Given the description of an element on the screen output the (x, y) to click on. 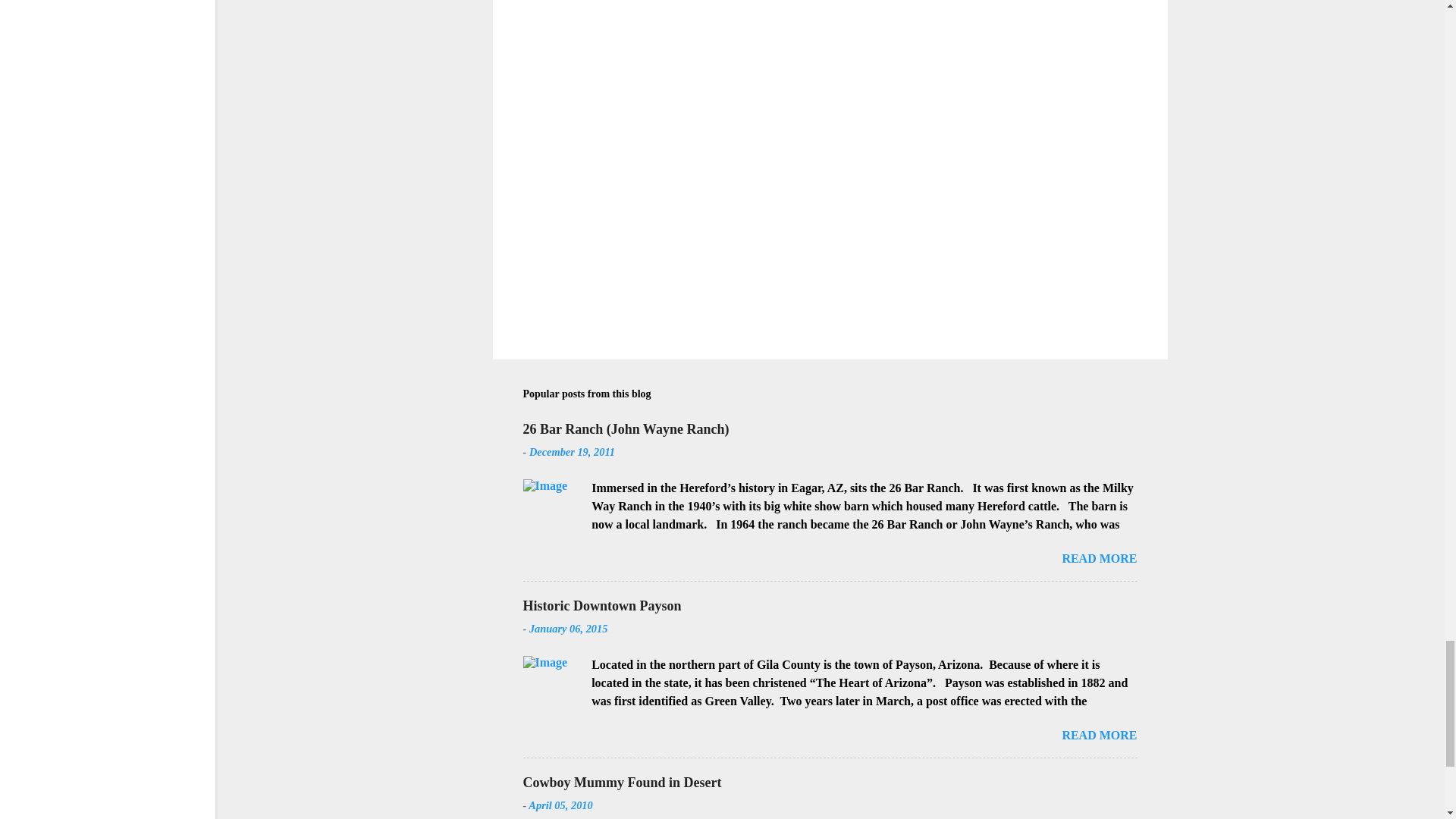
Historic Downtown Payson (601, 605)
permanent link (571, 451)
READ MORE (1099, 735)
Cowboy Mummy Found in Desert (622, 782)
READ MORE (1099, 558)
December 19, 2011 (571, 451)
January 06, 2015 (568, 628)
April 05, 2010 (560, 805)
